Given the description of an element on the screen output the (x, y) to click on. 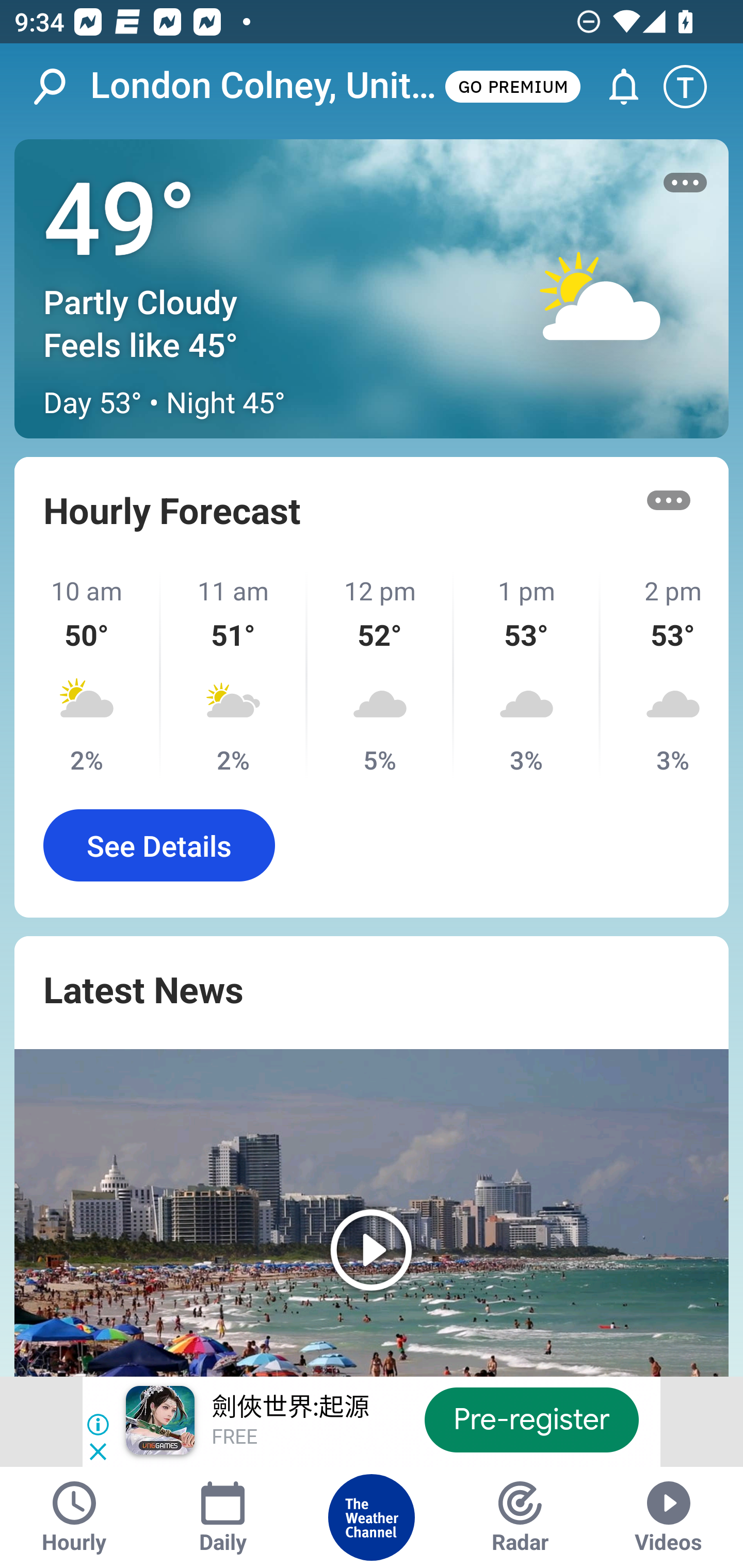
Search (59, 86)
Go to Alerts and Notifications (614, 86)
Setting icon T (694, 86)
London Colney, United Kingdom (265, 85)
GO PREMIUM (512, 85)
More options (684, 182)
More options (668, 500)
10 am 50° 2% (87, 674)
11 am 51° 2% (234, 674)
12 pm 52° 5% (380, 674)
1 pm 53° 3% (526, 674)
2 pm 53° 3% (664, 674)
See Details (158, 845)
Play (371, 1212)
Pre-register (530, 1419)
劍俠世界:起源 (289, 1407)
Hourly Tab Hourly (74, 1517)
Daily Tab Daily (222, 1517)
Radar Tab Radar (519, 1517)
Videos Tab Videos (668, 1517)
